Given the description of an element on the screen output the (x, y) to click on. 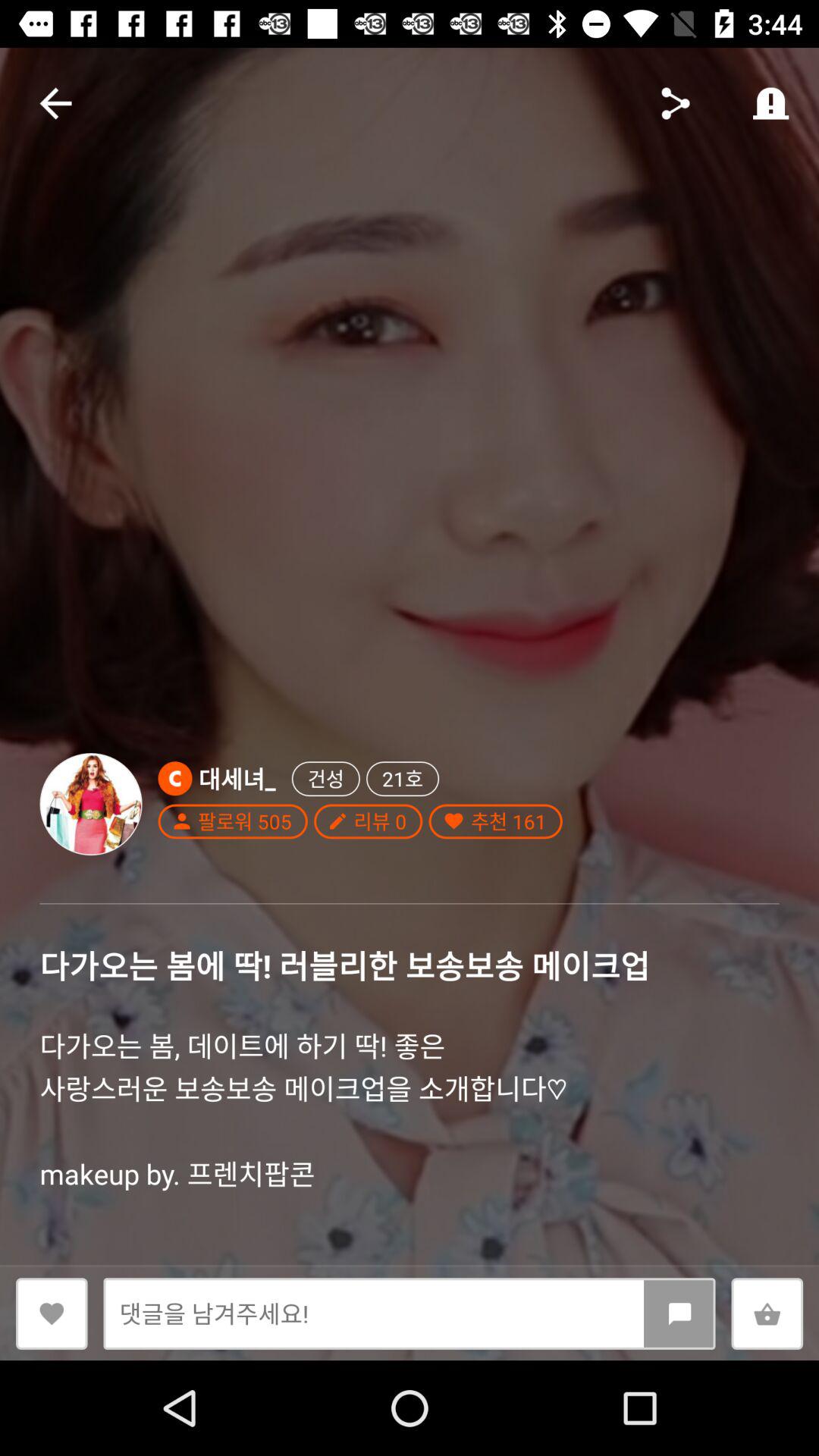
select icon at the top left corner (55, 103)
